Given the description of an element on the screen output the (x, y) to click on. 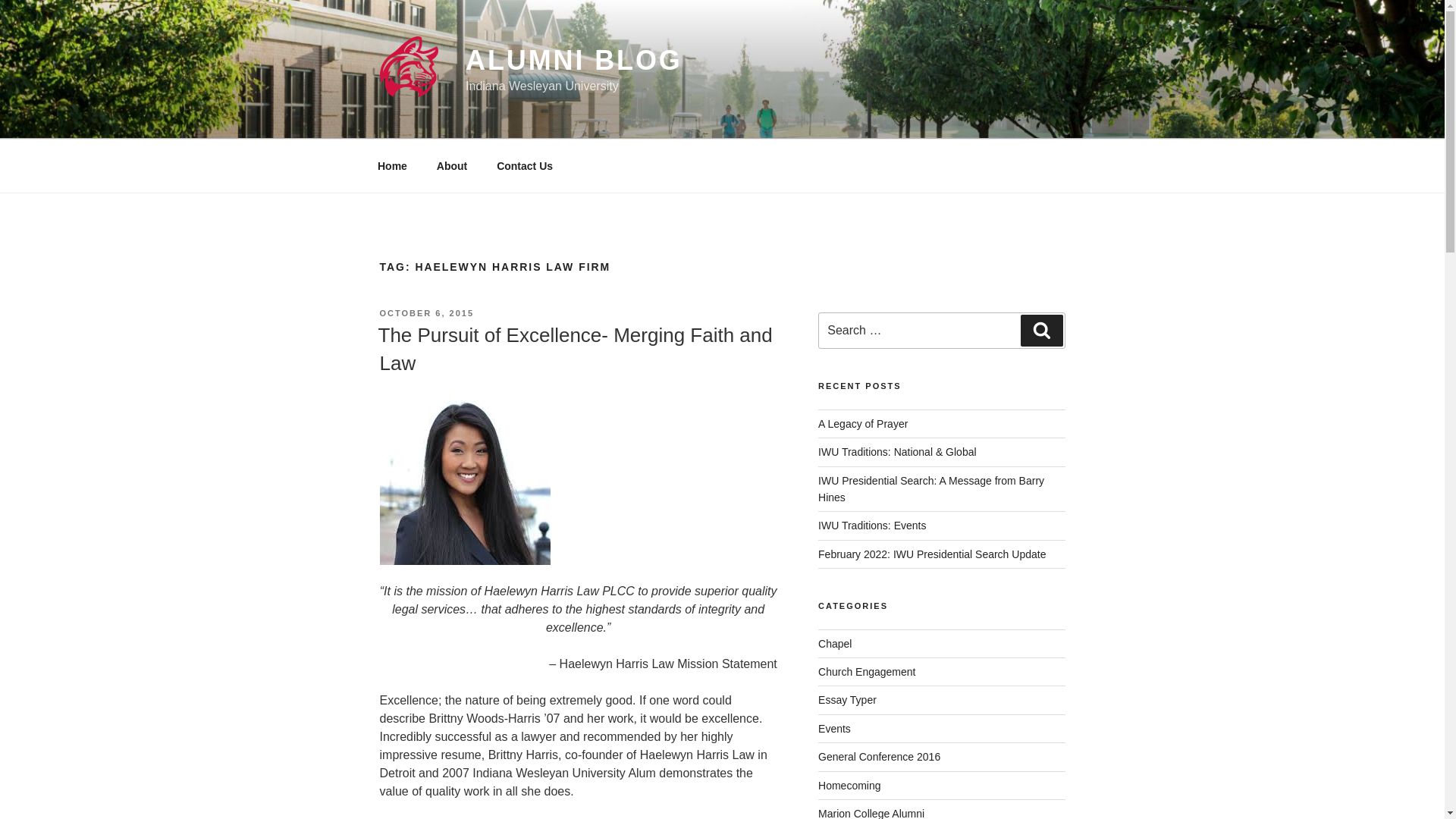
Home (392, 165)
A Legacy of Prayer (862, 423)
The Pursuit of Excellence- Merging Faith and Law (574, 348)
About (451, 165)
ALUMNI BLOG (573, 60)
Search (1041, 330)
General Conference 2016 (879, 756)
IWU Traditions: Events (872, 525)
Chapel (834, 644)
Contact Us (524, 165)
Homecoming (849, 785)
Events (834, 728)
Marion College Alumni (871, 813)
IWU Presidential Search: A Message from Barry Hines (930, 489)
OCTOBER 6, 2015 (426, 312)
